Given the description of an element on the screen output the (x, y) to click on. 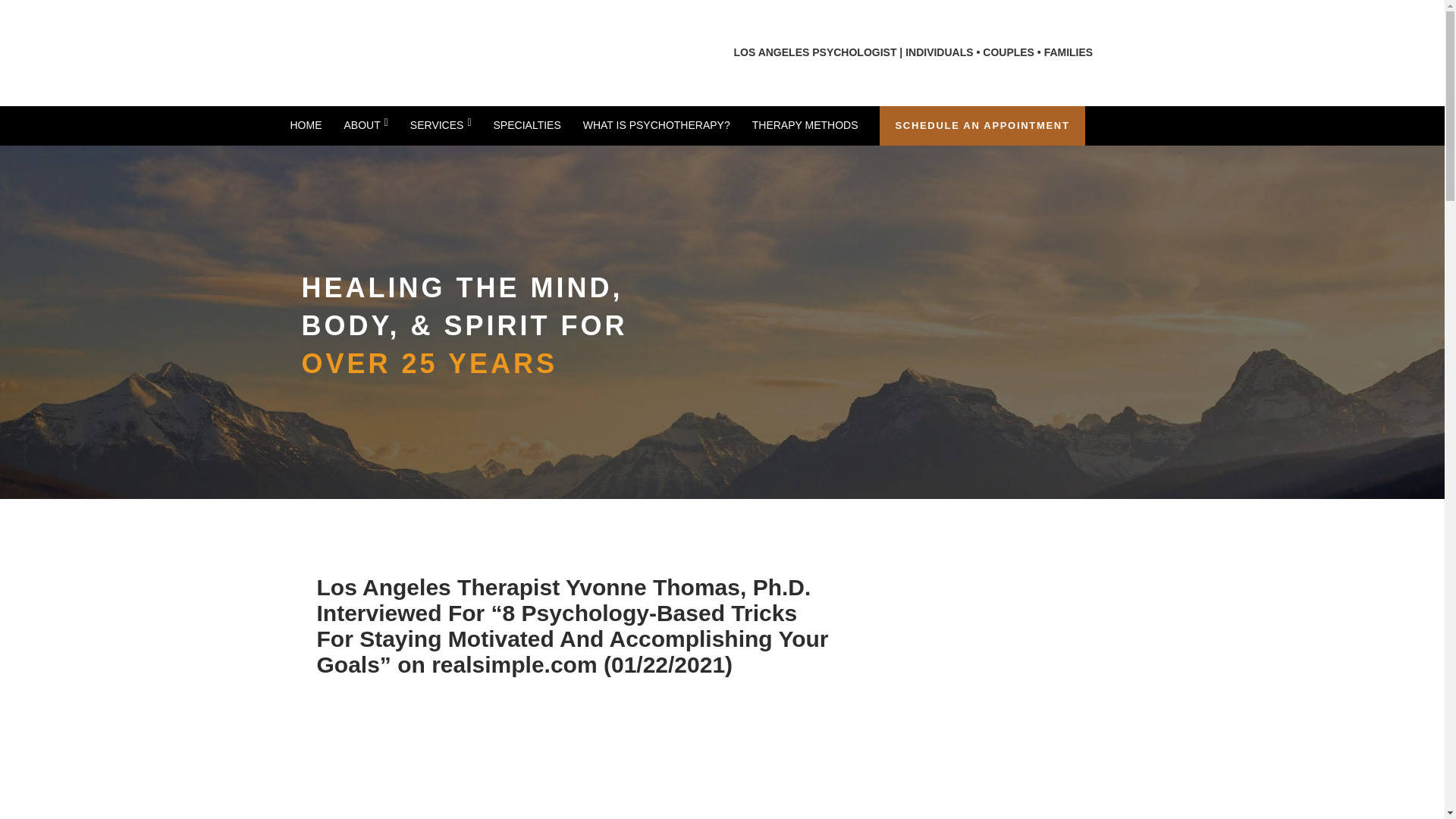
THERAPY METHODS (805, 125)
WHAT IS PSYCHOTHERAPY? (656, 125)
SPECIALTIES (526, 125)
SCHEDULE AN APPOINTMENT (981, 125)
SERVICES (440, 125)
ABOUT (365, 125)
